Given the description of an element on the screen output the (x, y) to click on. 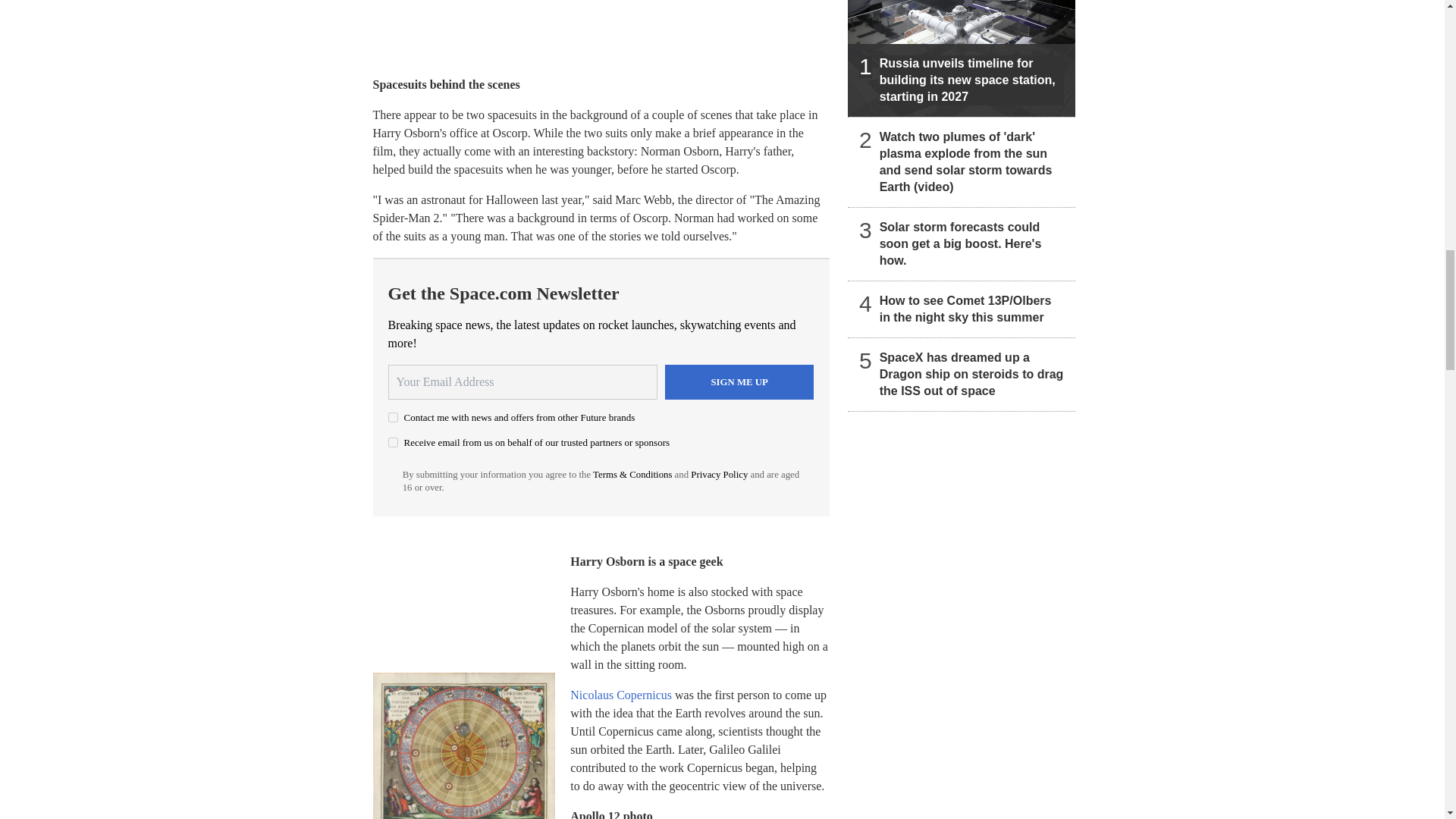
on (392, 417)
on (392, 442)
Sign me up (739, 381)
